Given the description of an element on the screen output the (x, y) to click on. 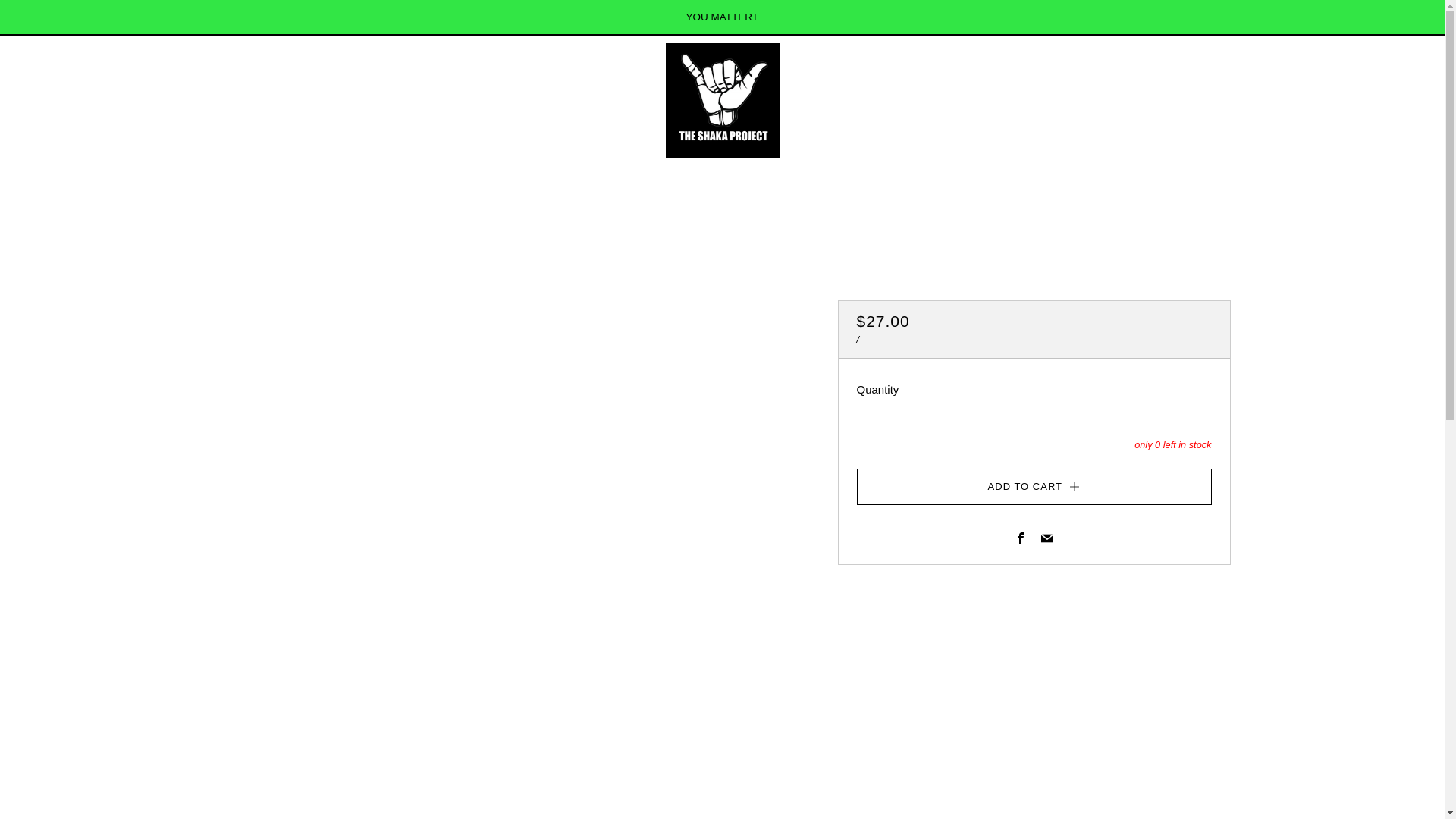
EVENTS (873, 176)
CONTACT (937, 176)
DONATE (678, 176)
SHOP (811, 176)
ABOUT US (745, 176)
ACCESS CRISIS RESOURCES (559, 176)
